Given the description of an element on the screen output the (x, y) to click on. 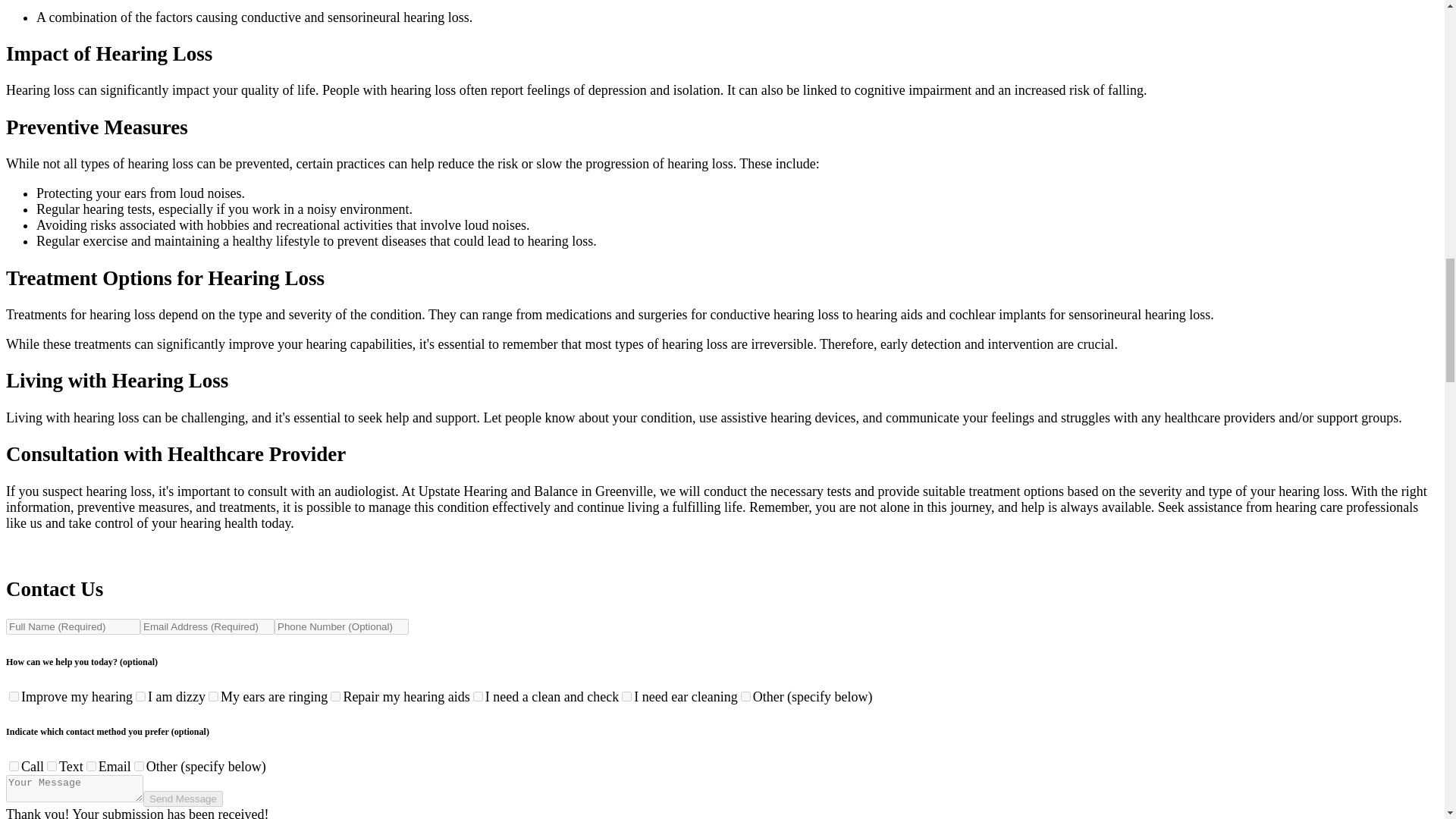
on (335, 696)
Send Message (182, 798)
on (478, 696)
on (13, 766)
on (746, 696)
on (13, 696)
on (626, 696)
on (138, 766)
on (213, 696)
on (51, 766)
on (140, 696)
on (90, 766)
Send Message (182, 798)
